Given the description of an element on the screen output the (x, y) to click on. 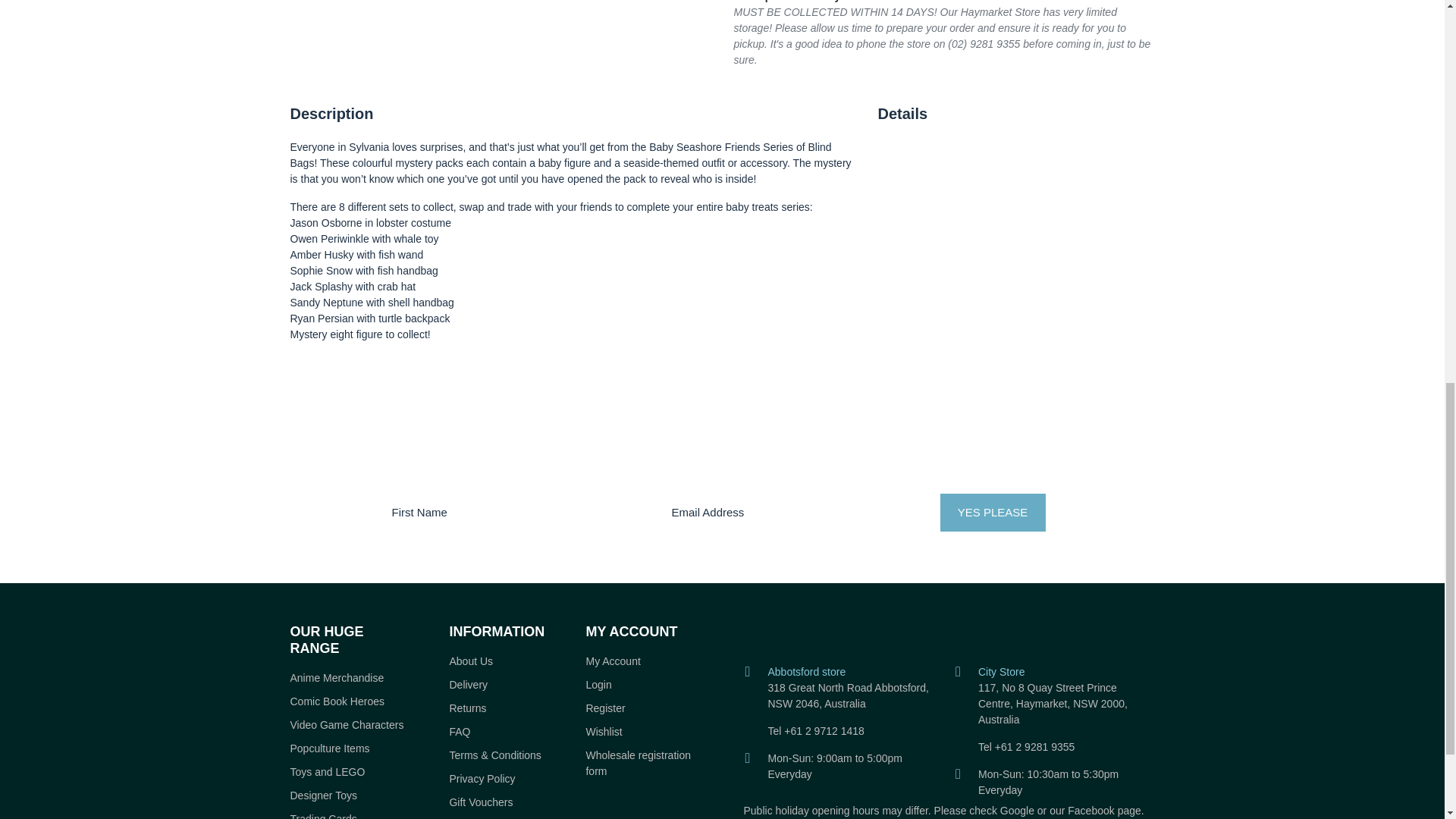
YES PLEASE (992, 512)
